Given the description of an element on the screen output the (x, y) to click on. 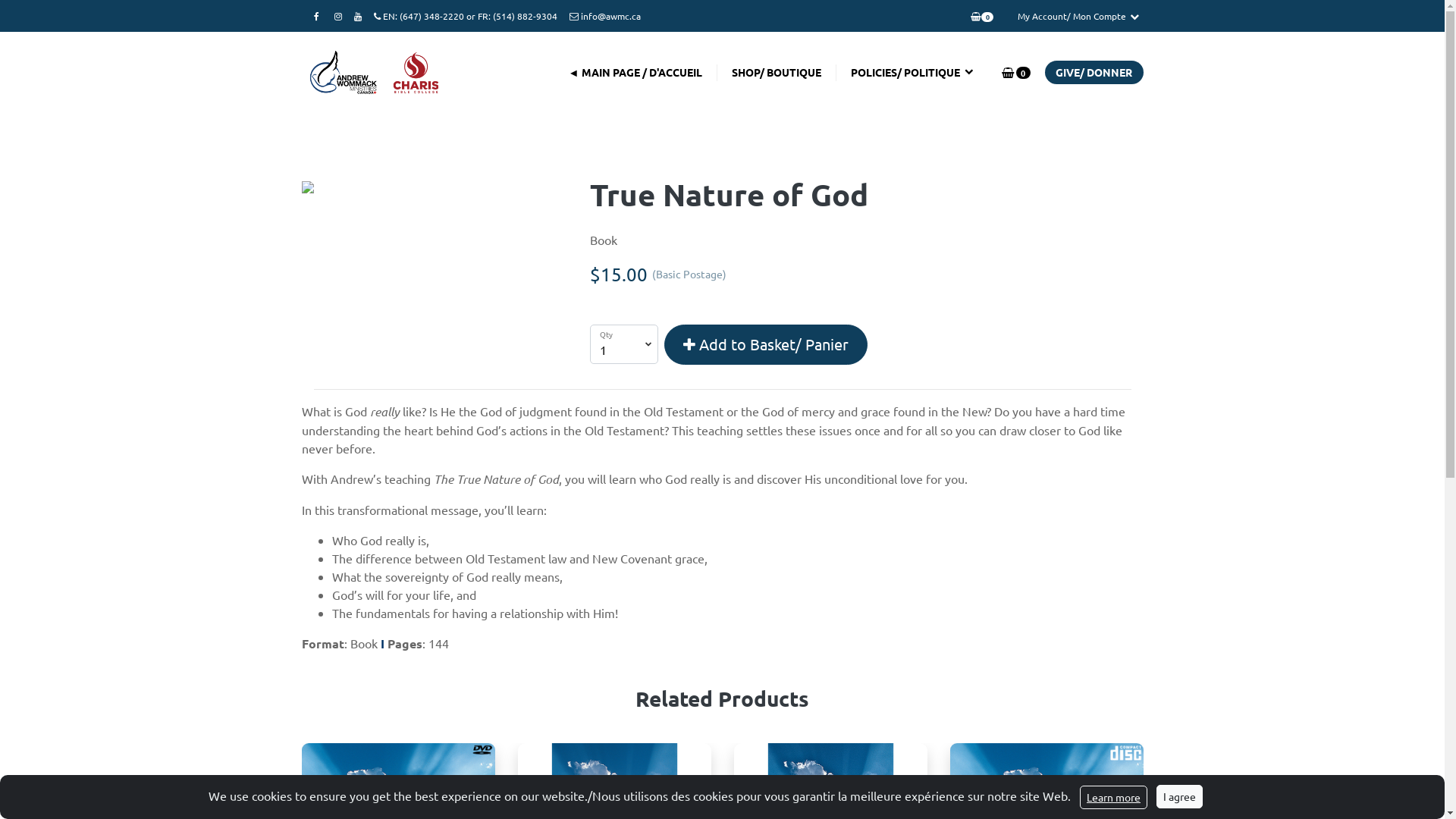
I agree Element type: text (1179, 796)
POLICIES/ POLITIQUE Element type: text (911, 72)
Learn more Element type: text (1113, 797)
 0 Element type: text (1015, 72)
Add to Basket/ Panier Element type: text (765, 344)
0 Element type: text (981, 15)
SHOP/ BOUTIQUE Element type: text (776, 72)
GIVE/ DONNER Element type: text (1093, 72)
info@awmc.ca Element type: text (604, 15)
My Account/ Mon Compte Element type: text (1072, 15)
